Given the description of an element on the screen output the (x, y) to click on. 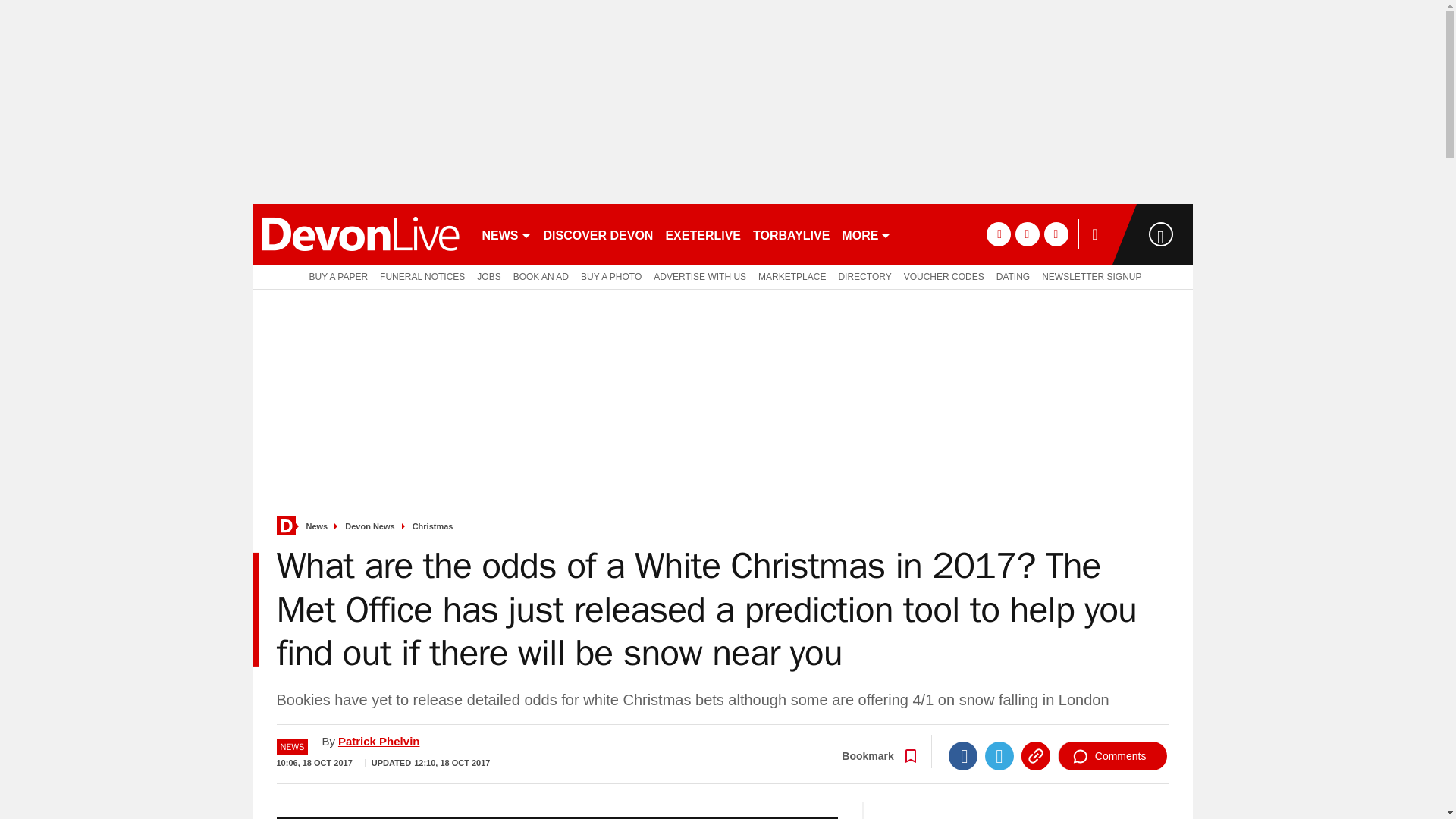
DISCOVER DEVON (598, 233)
devonlive (359, 233)
instagram (1055, 233)
Facebook (962, 756)
twitter (1026, 233)
Twitter (999, 756)
NEWS (506, 233)
facebook (997, 233)
Comments (1112, 756)
EXETERLIVE (702, 233)
